Given the description of an element on the screen output the (x, y) to click on. 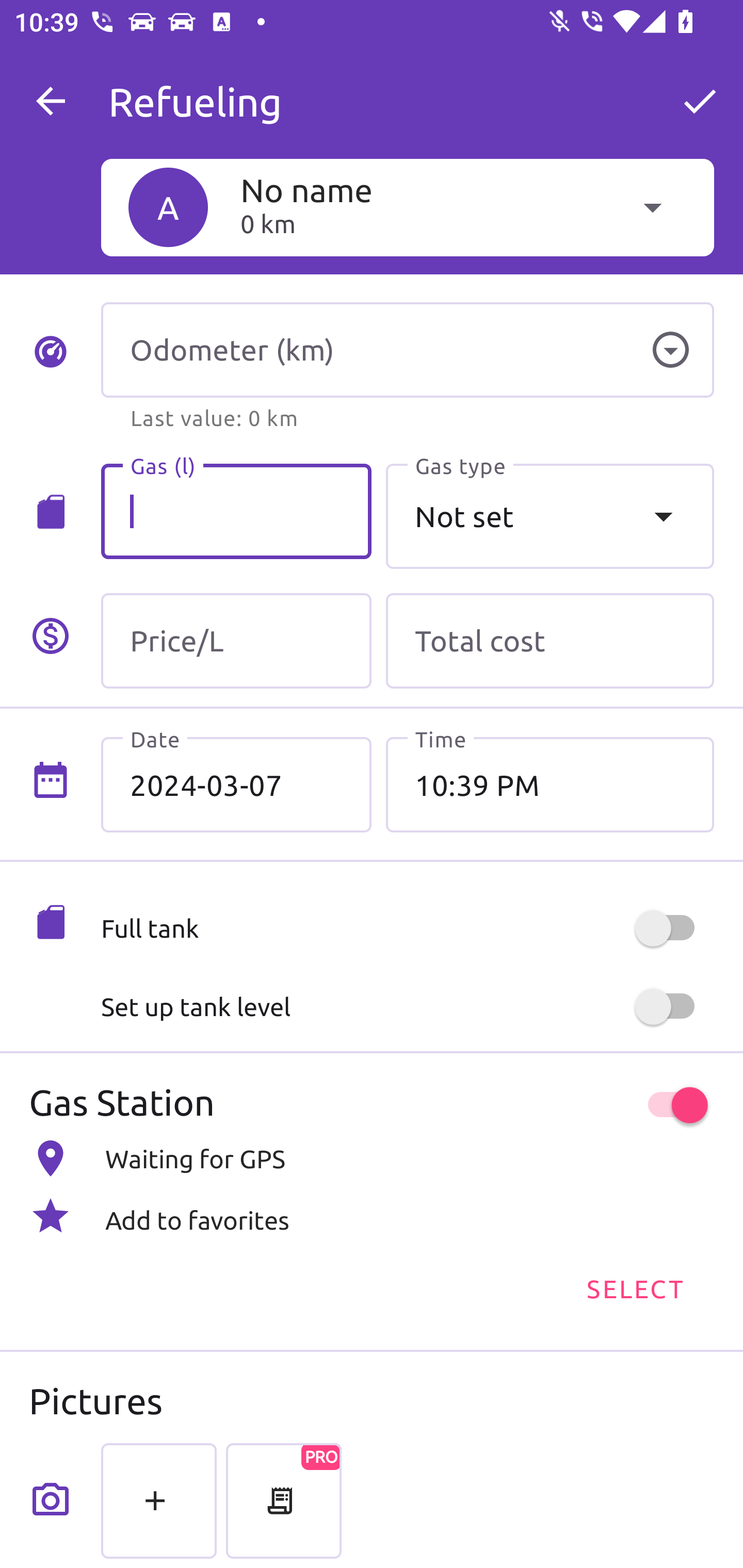
Navigate up (50, 101)
OK (699, 101)
A No name 0 km (407, 206)
Odometer (km) (407, 350)
Odometer (670, 349)
Gas (l) (236, 511)
Not set (549, 516)
Price/L (236, 640)
Total cost  (549, 640)
2024-03-07 (236, 784)
10:39 PM (549, 784)
Full tank (407, 928)
Set up tank level (407, 1006)
Add to favorites (371, 1215)
SELECT (634, 1287)
